Given the description of an element on the screen output the (x, y) to click on. 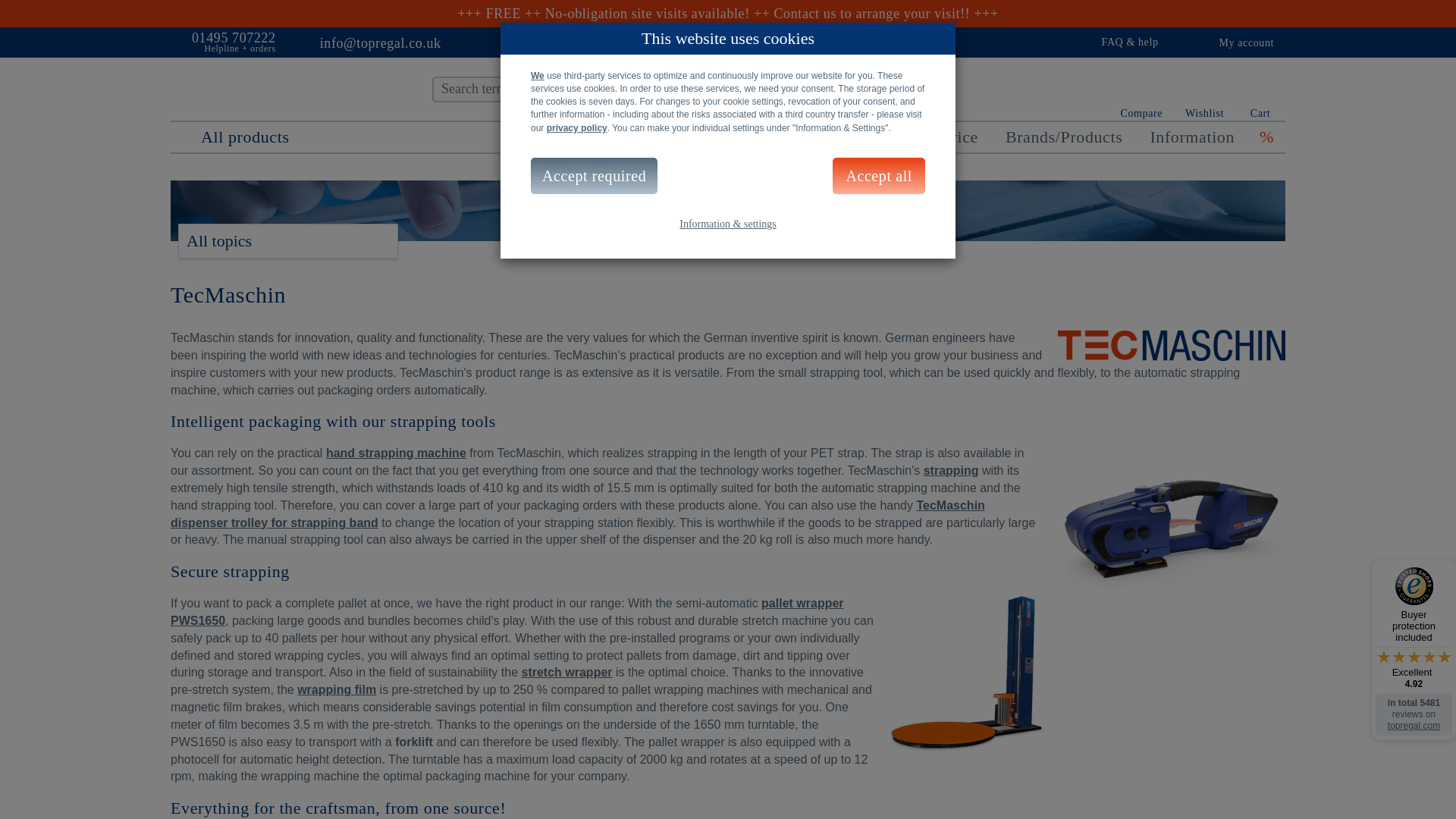
Accept all (878, 176)
We (537, 75)
privacy policy (577, 127)
Compare (1141, 98)
Accept required (594, 176)
log in (1188, 42)
Send us an e-mail (380, 41)
Wishlist (1203, 98)
Compare (1141, 98)
Cart (1259, 97)
Send us an e-mail (309, 41)
